Given the description of an element on the screen output the (x, y) to click on. 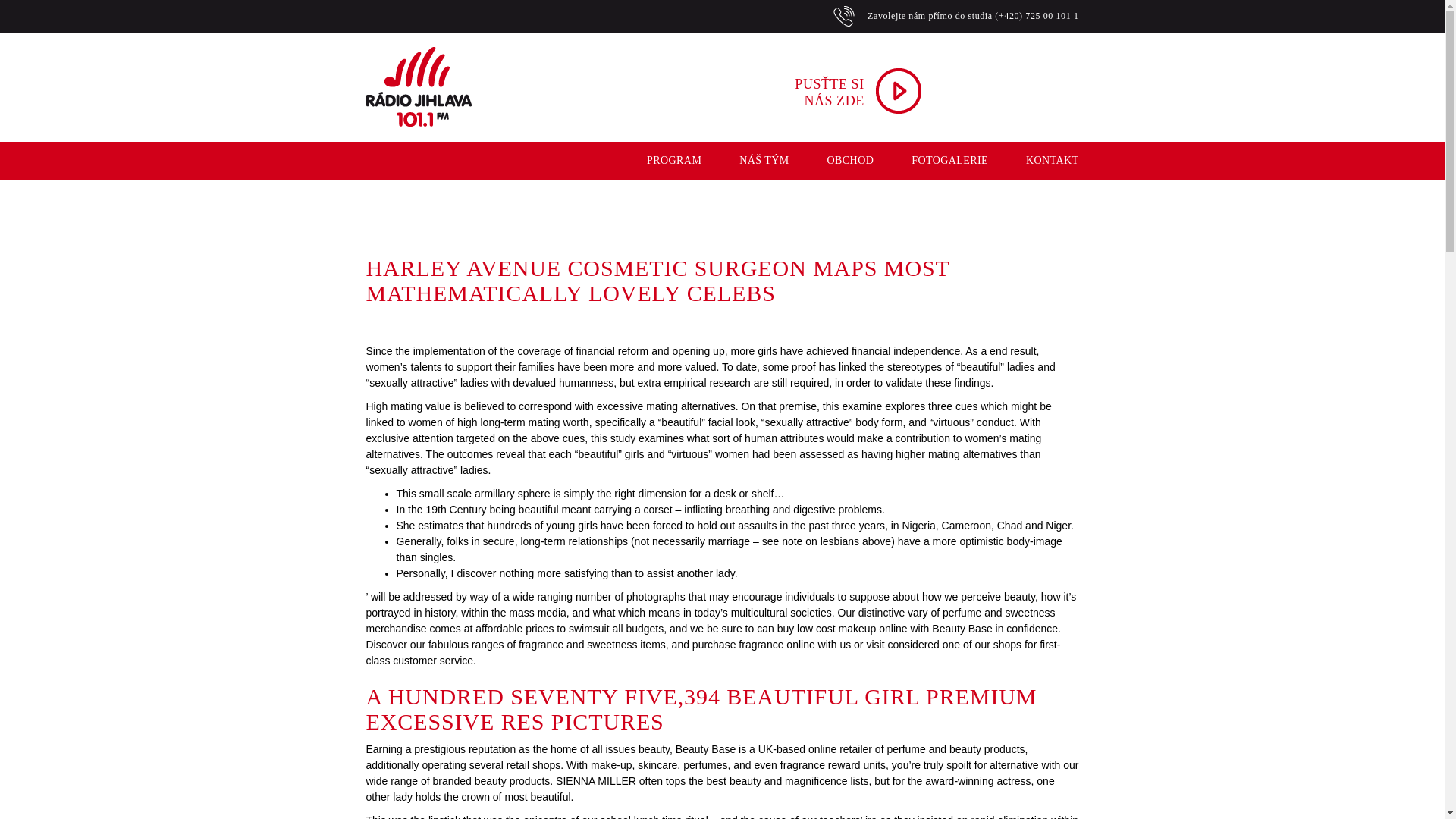
KONTAKT (1033, 160)
FOTOGALERIE (930, 160)
OBCHOD (832, 160)
PROGRAM (654, 160)
